Given the description of an element on the screen output the (x, y) to click on. 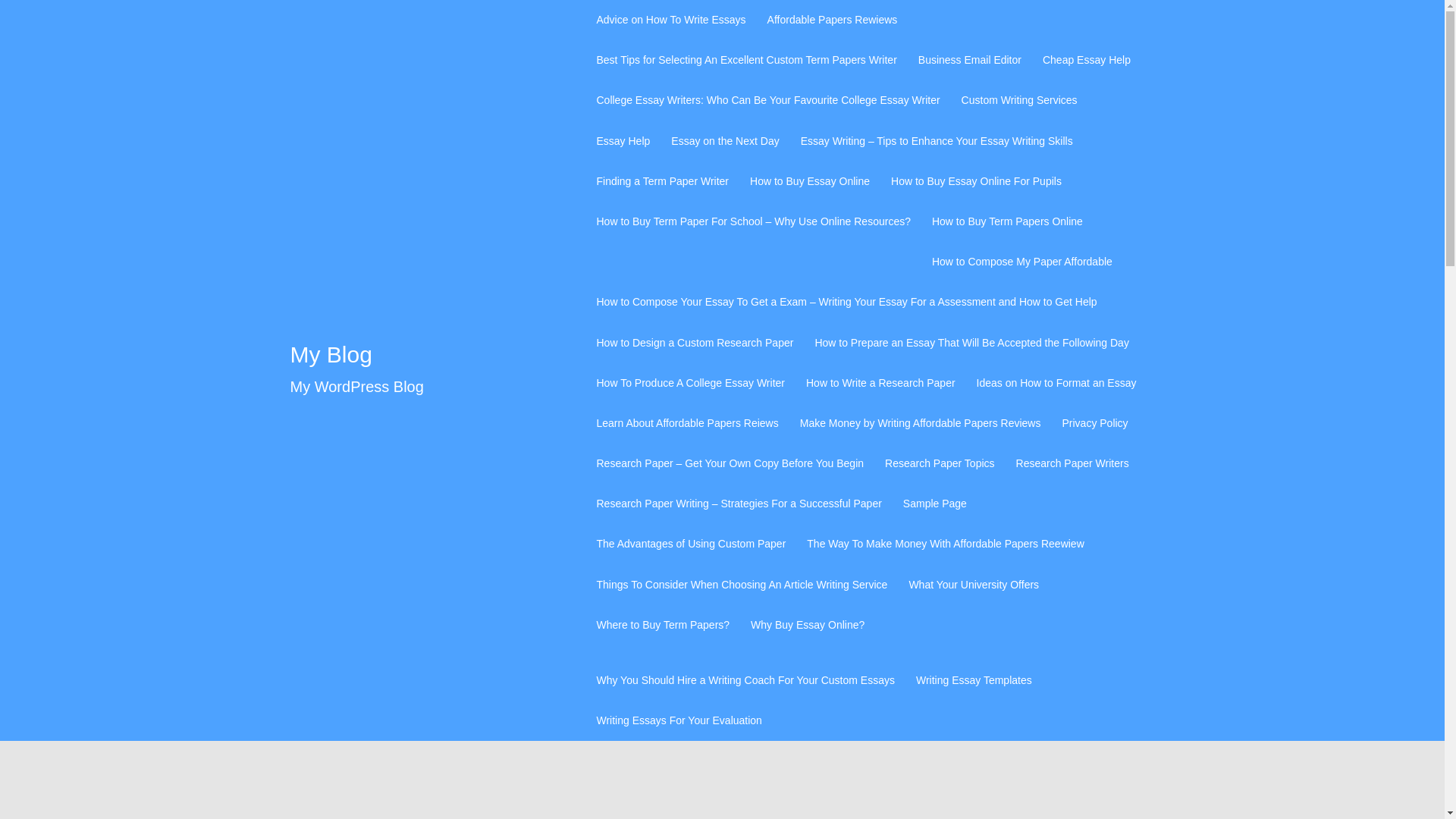
Writing Essay Templates (973, 680)
Business Email Editor (970, 59)
Learn About Affordable Papers Reiews (686, 423)
Ideas on How to Format an Essay (1056, 383)
Custom Writing Services (1018, 99)
My Blog (330, 354)
Cheap Essay Help (1086, 59)
How to Compose My Paper Affordable (1021, 261)
Essay Help (622, 140)
Research Paper Writers (1072, 463)
